Given the description of an element on the screen output the (x, y) to click on. 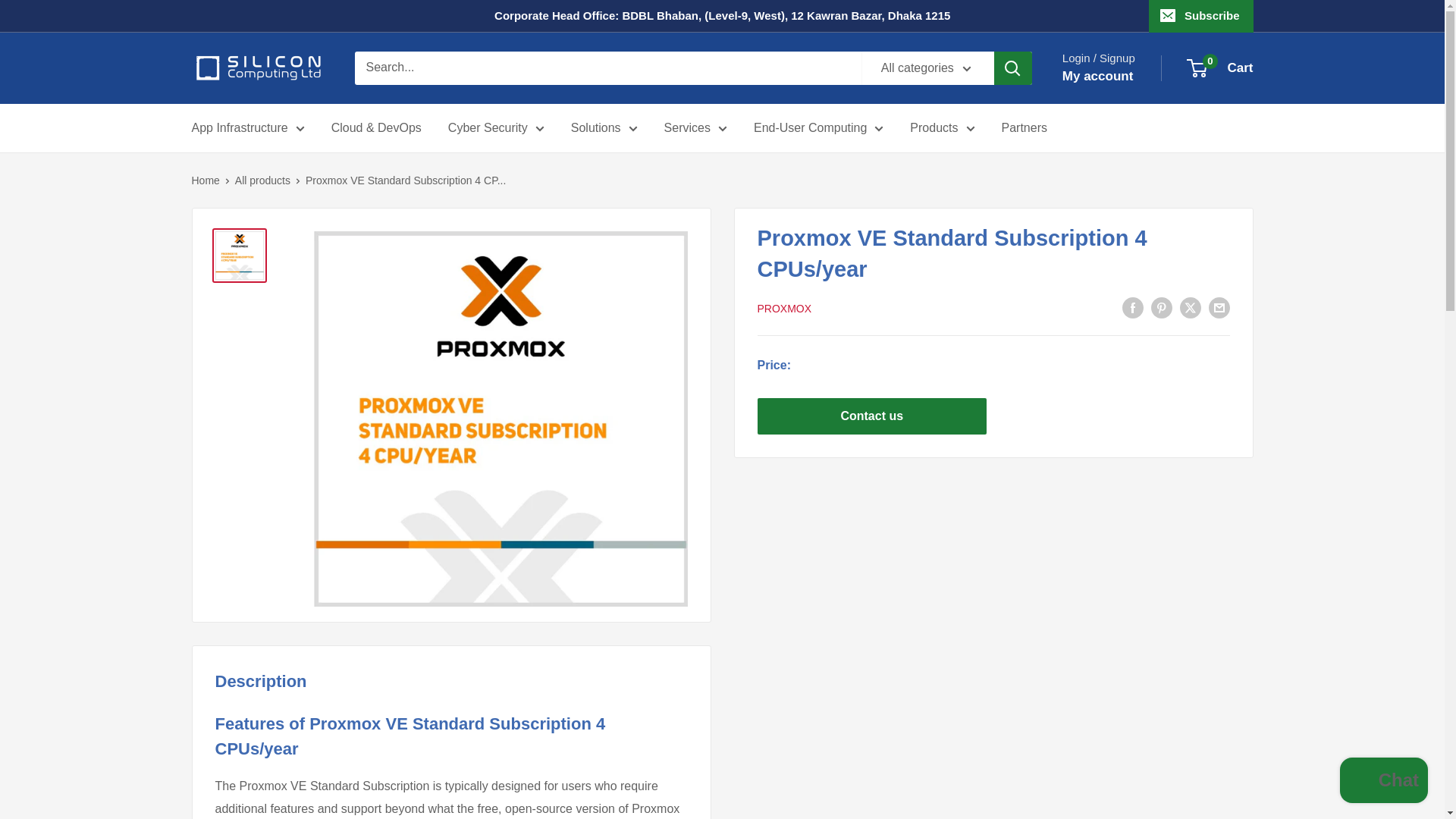
Subscribe (1200, 15)
Shopify online store chat (1383, 781)
